Given the description of an element on the screen output the (x, y) to click on. 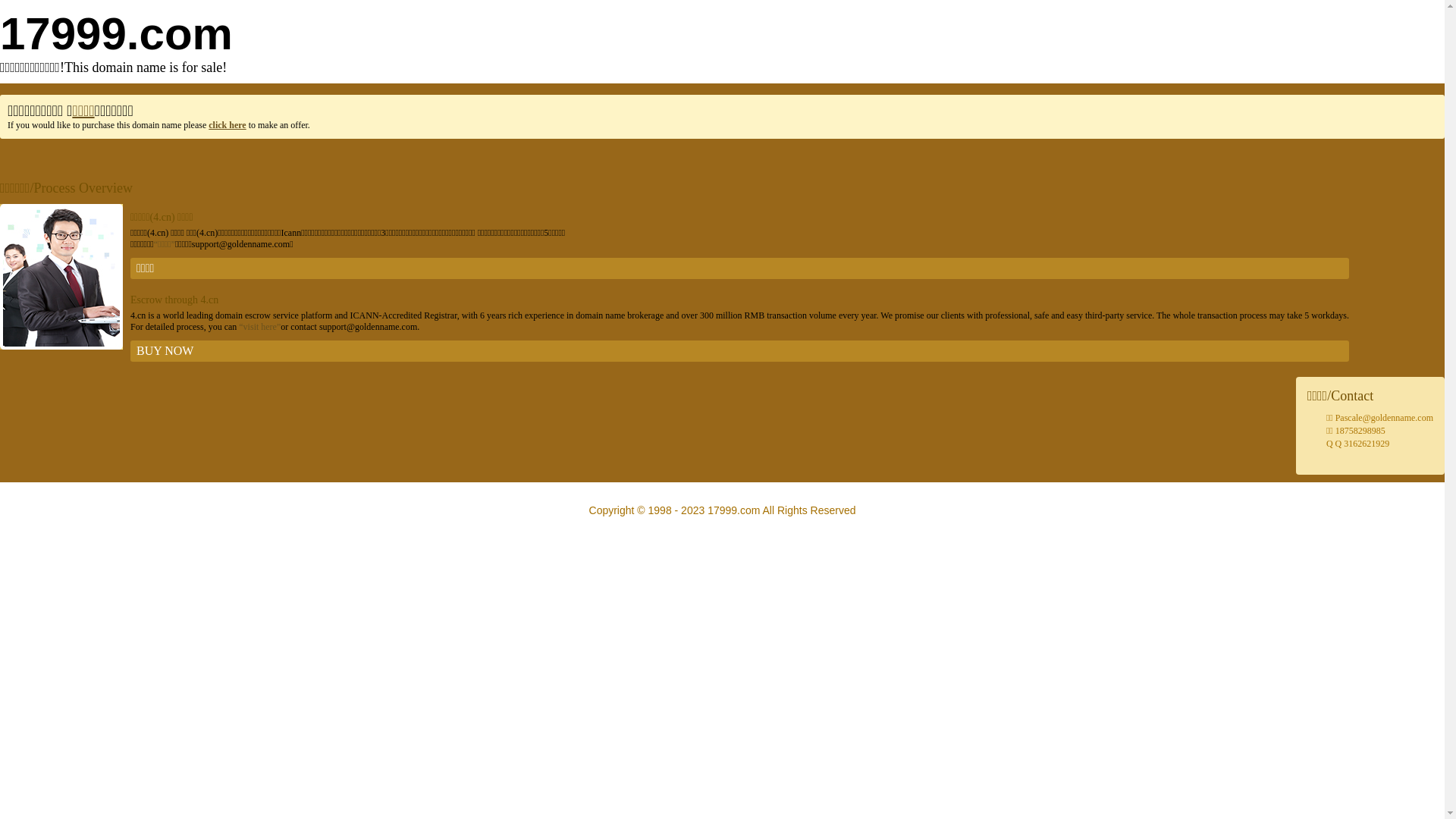
click here Element type: text (226, 124)
BUY NOW Element type: text (739, 350)
